Given the description of an element on the screen output the (x, y) to click on. 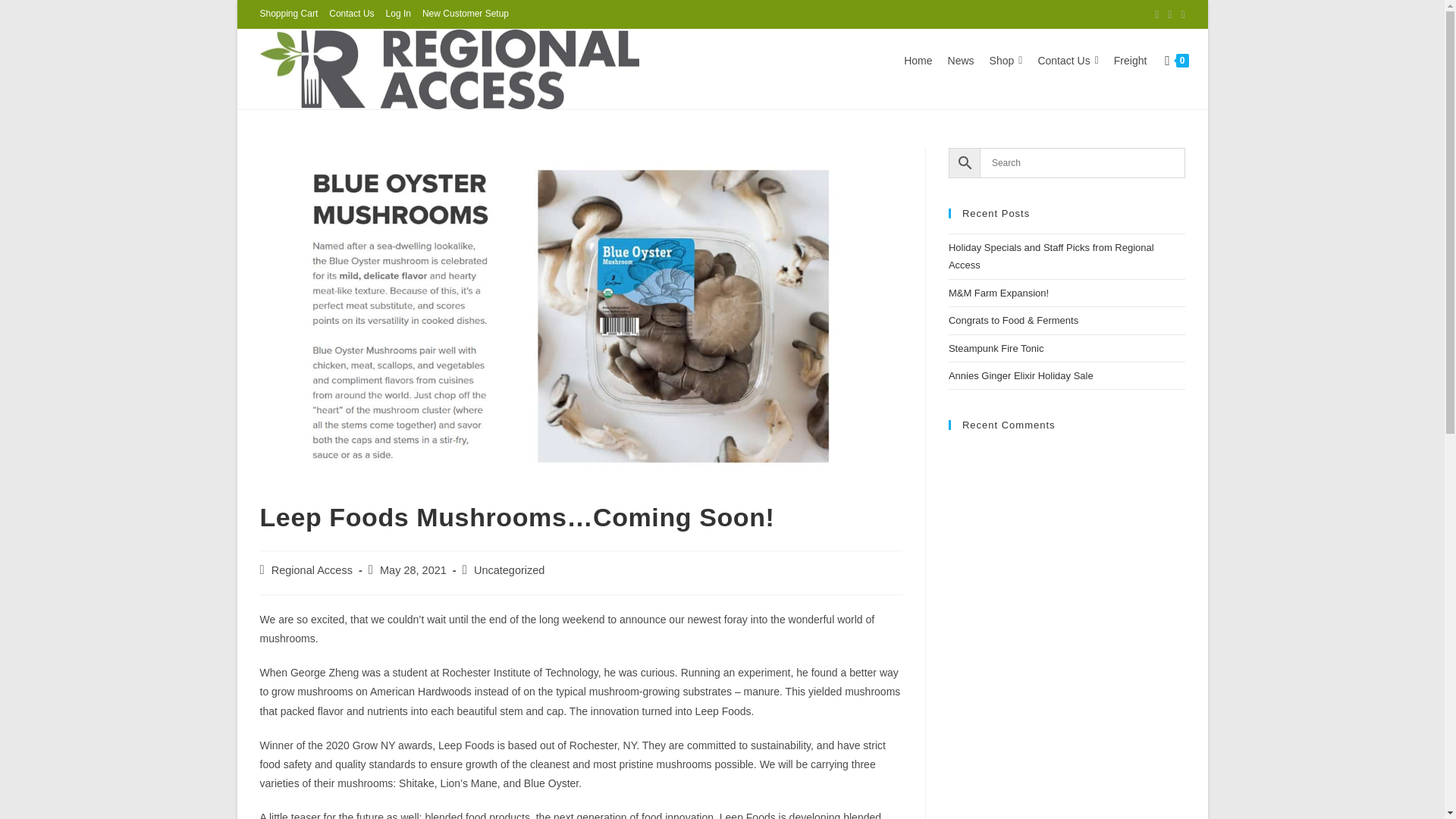
Posts by Regional Access (311, 570)
New Customer Setup (465, 13)
0 (1176, 60)
Freight (1130, 60)
Log In (397, 13)
Shop (1005, 60)
Contact Us (351, 13)
News (960, 60)
Shopping Cart (288, 13)
Home (917, 60)
Contact Us (1067, 60)
